Given the description of an element on the screen output the (x, y) to click on. 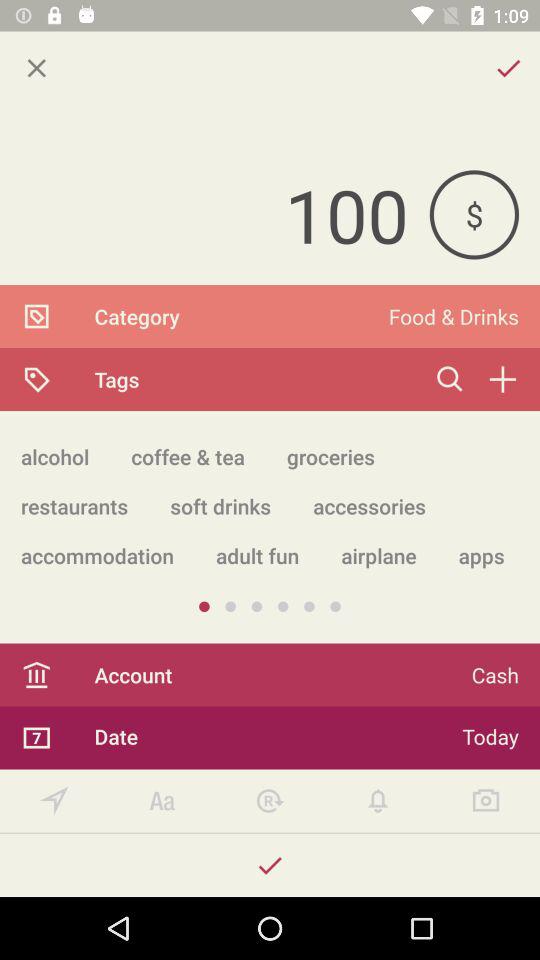
turn off the restaurants item (74, 506)
